Given the description of an element on the screen output the (x, y) to click on. 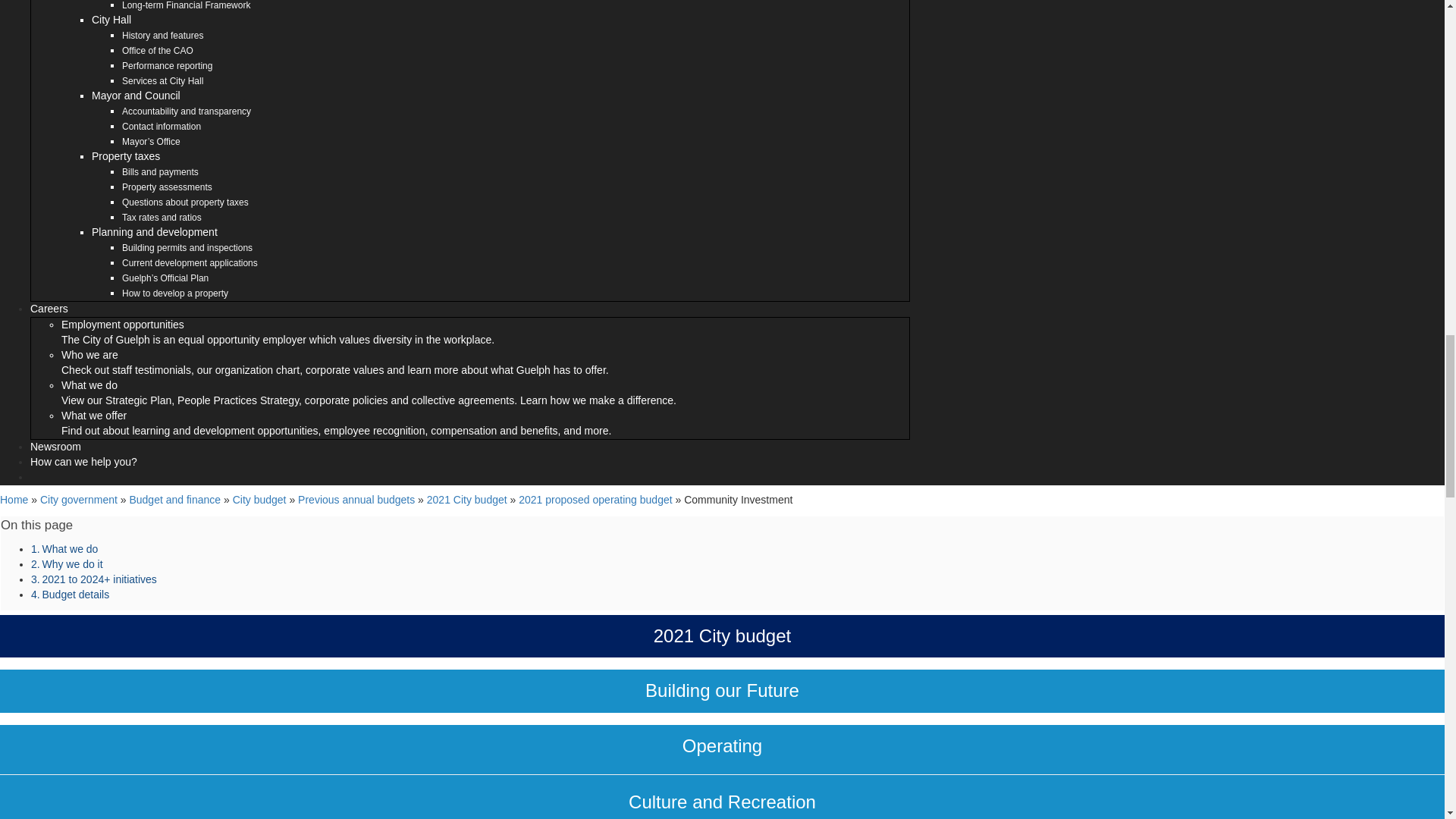
Why we do it (71, 563)
What we do (69, 548)
Budget details (75, 594)
